Given the description of an element on the screen output the (x, y) to click on. 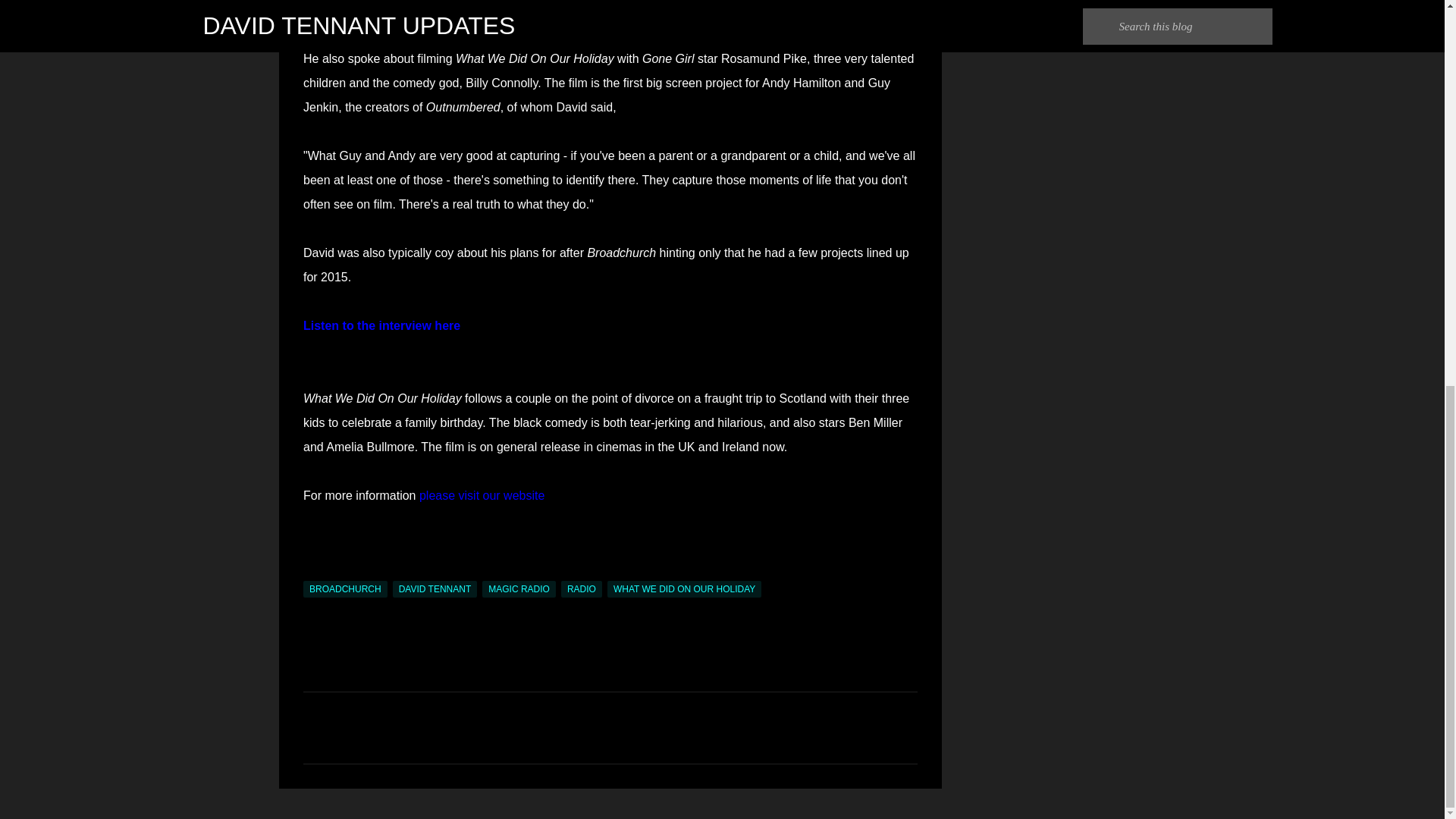
MAGIC RADIO (518, 588)
please visit our website (481, 495)
WHAT WE DID ON OUR HOLIDAY (684, 588)
RADIO (581, 588)
Listen to the interview here (381, 325)
BROADCHURCH (344, 588)
Email Post (311, 571)
DAVID TENNANT (435, 588)
